Given the description of an element on the screen output the (x, y) to click on. 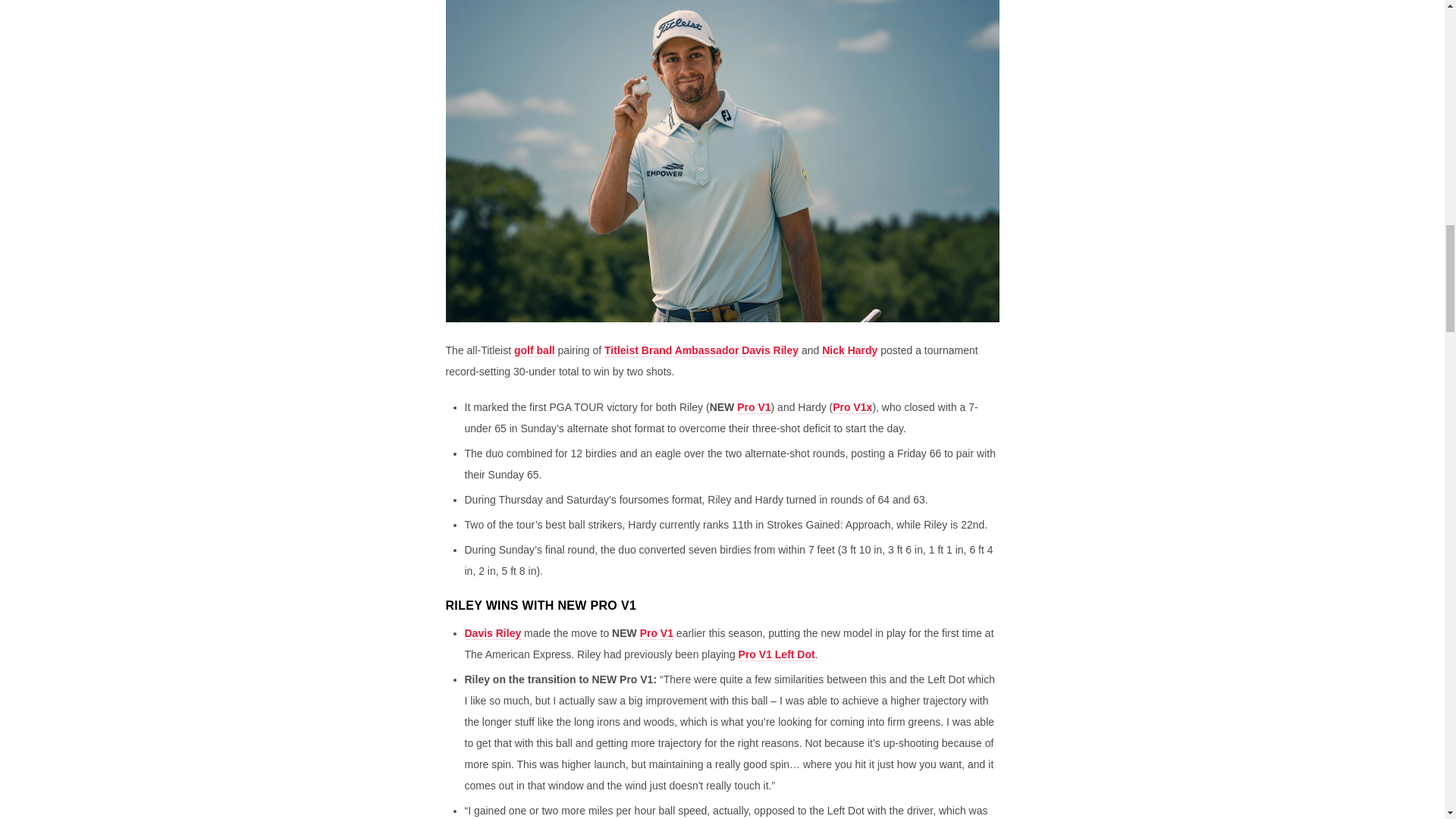
Pro V1 Left Dot (776, 654)
Davis Riley (700, 350)
Davis Riley (492, 633)
Nick Hardy (849, 350)
Titleist Golf Balls (533, 350)
Pro V1 (656, 633)
Pro V1x (852, 407)
Pro V1 (753, 407)
